Given the description of an element on the screen output the (x, y) to click on. 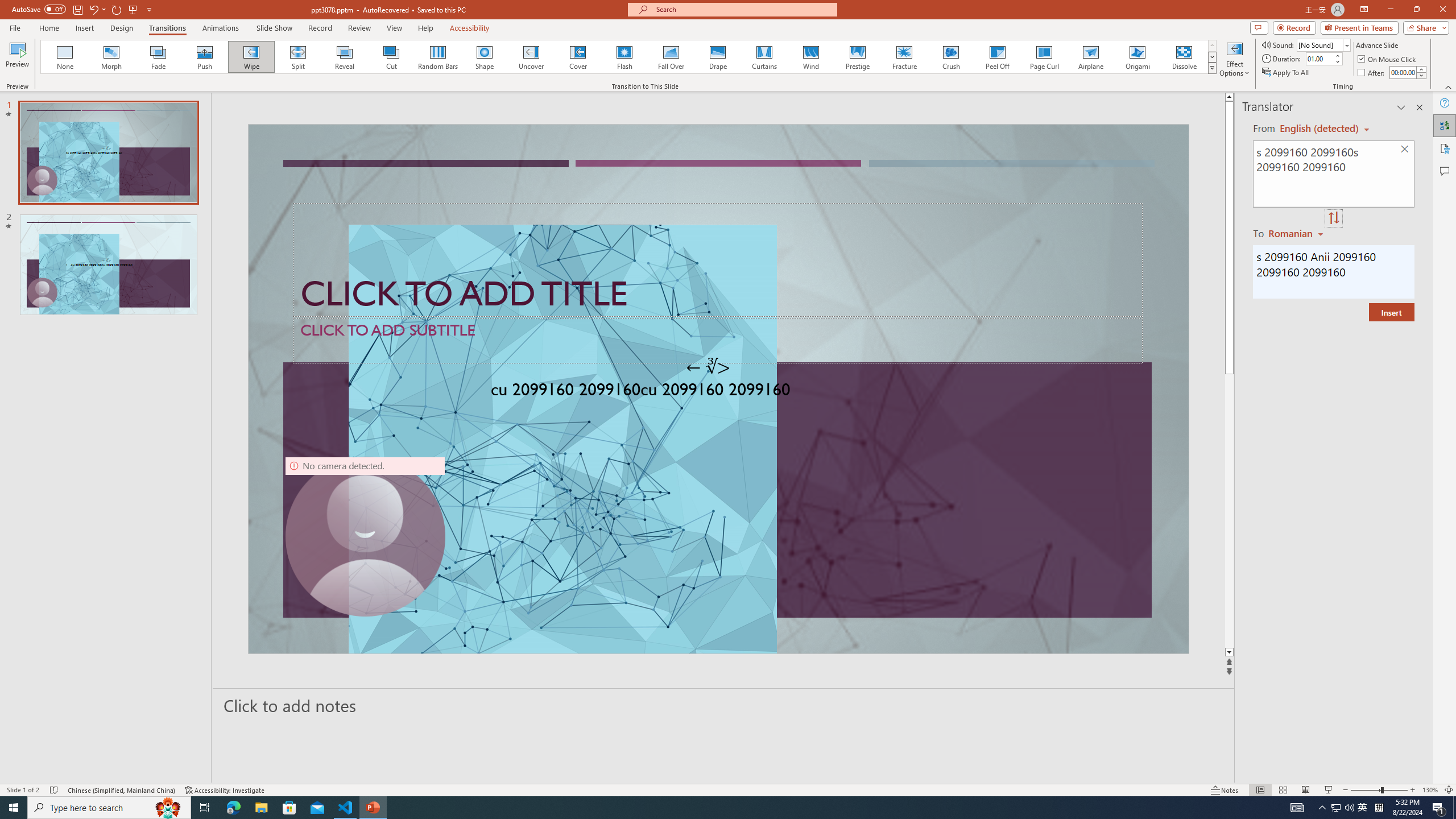
Flash (624, 56)
Fracture (903, 56)
Random Bars (437, 56)
Crush (950, 56)
